Given the description of an element on the screen output the (x, y) to click on. 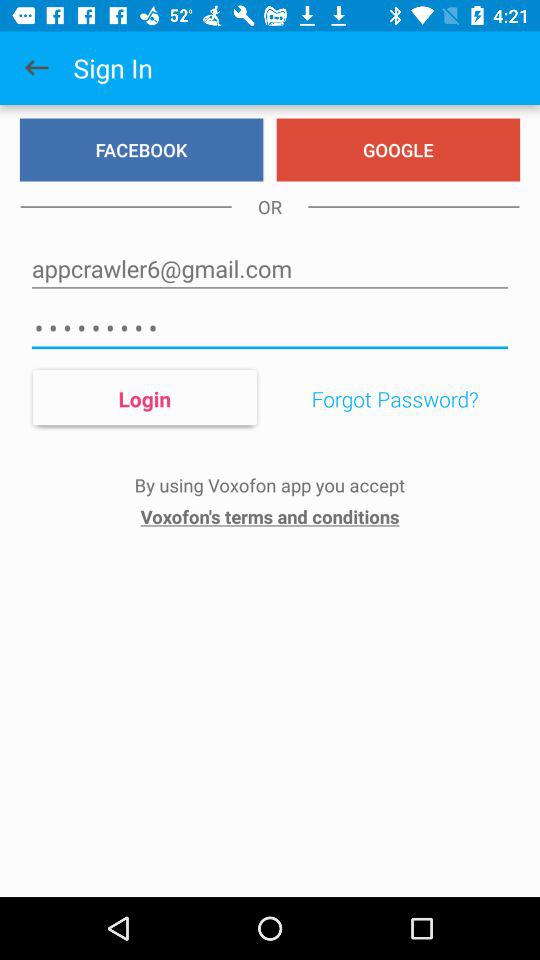
flip until the forgot password? (394, 399)
